Given the description of an element on the screen output the (x, y) to click on. 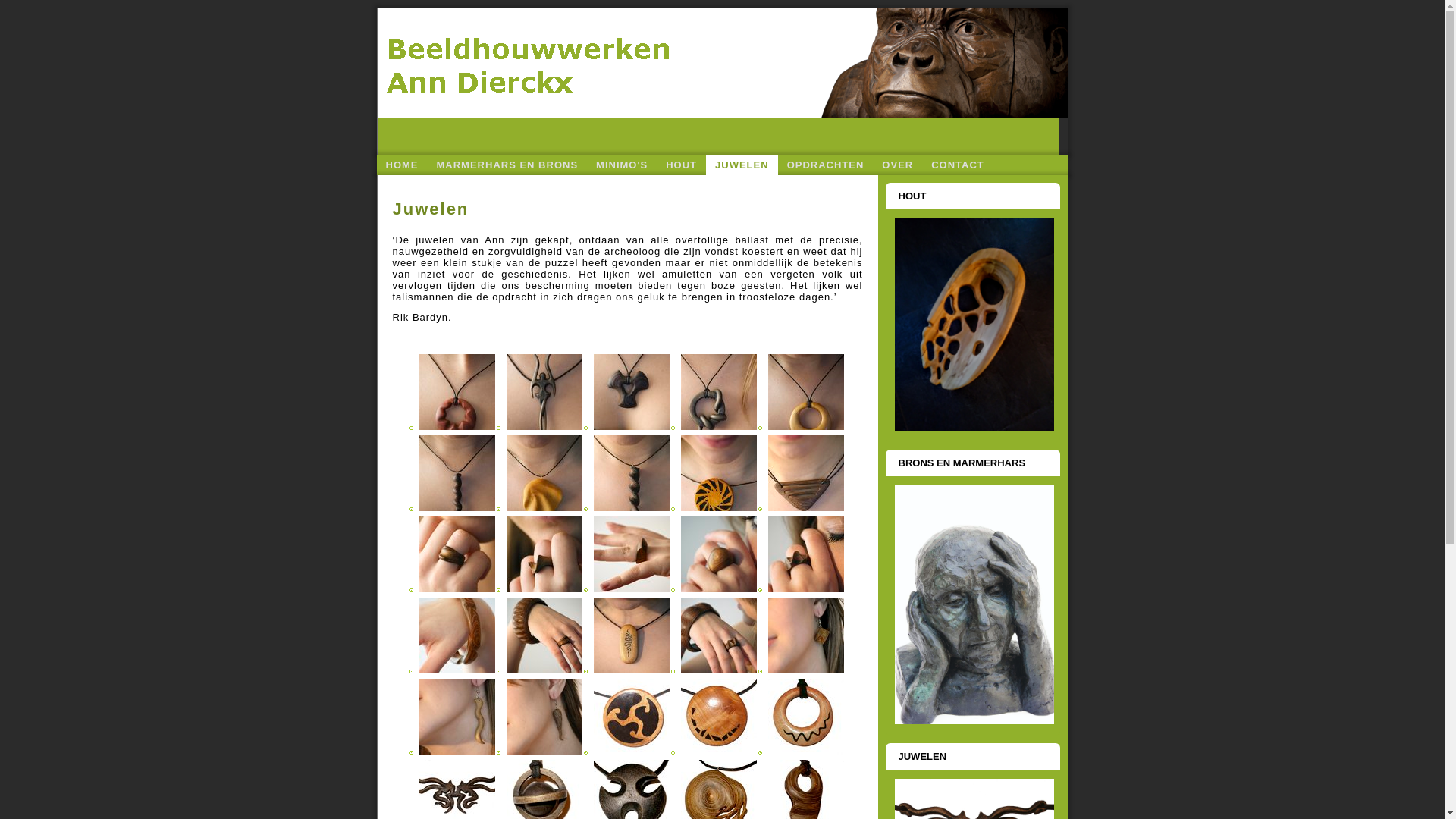
- Element type: hover (631, 427)
- Element type: hover (456, 671)
- Element type: hover (805, 508)
- Element type: hover (631, 752)
5.jpg Element type: hover (974, 604)
MINIMO'S Element type: text (621, 164)
- Element type: hover (718, 508)
- Element type: hover (544, 508)
- Element type: hover (456, 508)
- Element type: hover (631, 671)
- Element type: hover (718, 590)
- Element type: hover (805, 590)
- Element type: hover (544, 590)
MARMERHARS EN BRONS Element type: text (507, 164)
JUWELEN Element type: text (742, 164)
OPDRACHTEN Element type: text (825, 164)
- Element type: hover (544, 427)
- Element type: hover (718, 752)
Schaal 2019 4.jpg Element type: hover (974, 324)
- Element type: hover (631, 508)
- Element type: hover (718, 427)
HOME Element type: text (401, 164)
- Element type: hover (544, 671)
- Element type: hover (456, 427)
- Element type: hover (456, 590)
HOUT Element type: text (681, 164)
- Element type: hover (718, 671)
- Element type: hover (456, 752)
- Element type: hover (631, 590)
- Element type: hover (544, 752)
- Element type: hover (805, 752)
- Element type: hover (805, 671)
- Element type: hover (805, 427)
CONTACT Element type: text (957, 164)
OVER Element type: text (897, 164)
